Given the description of an element on the screen output the (x, y) to click on. 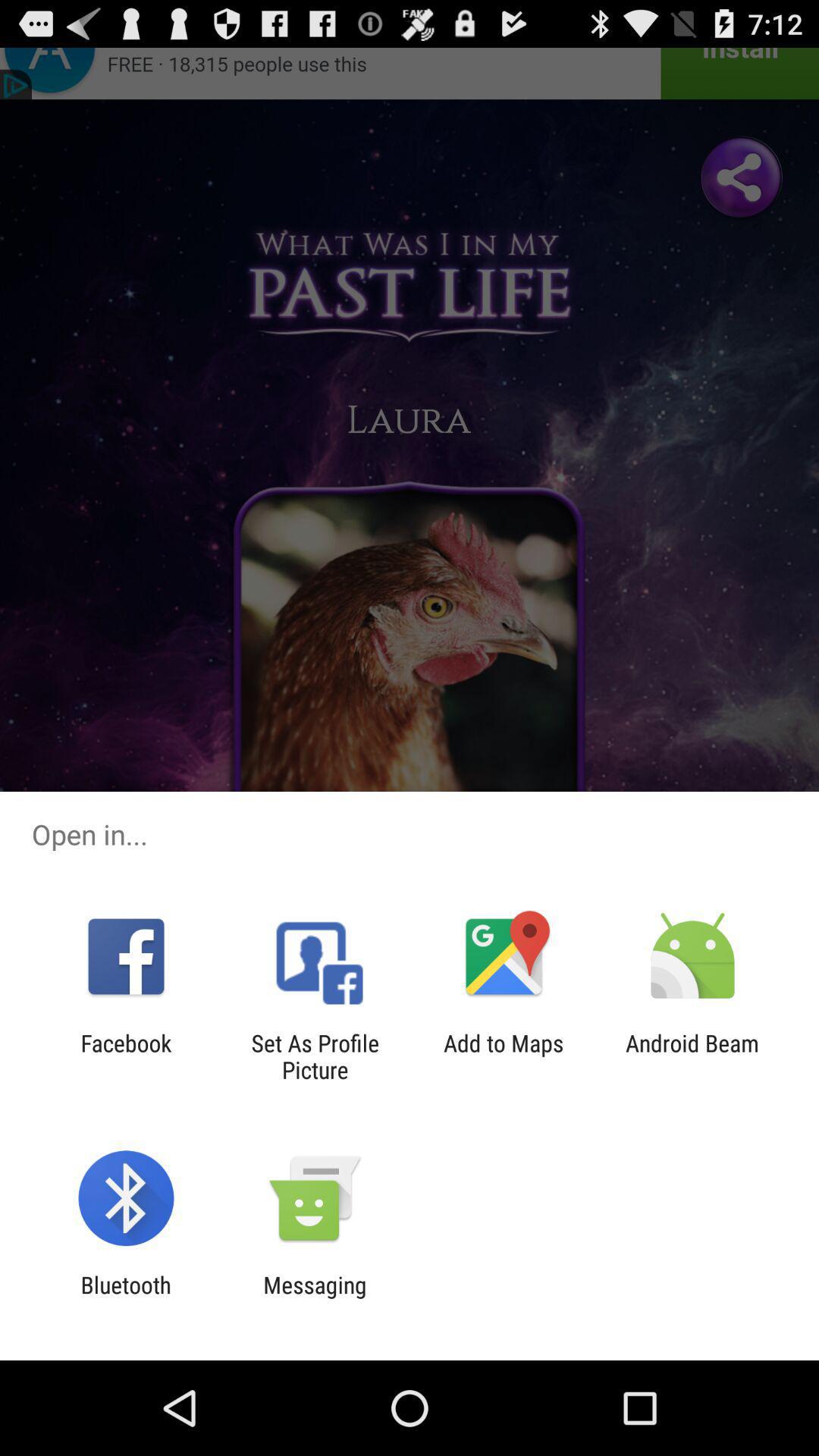
turn on icon next to android beam app (503, 1056)
